Given the description of an element on the screen output the (x, y) to click on. 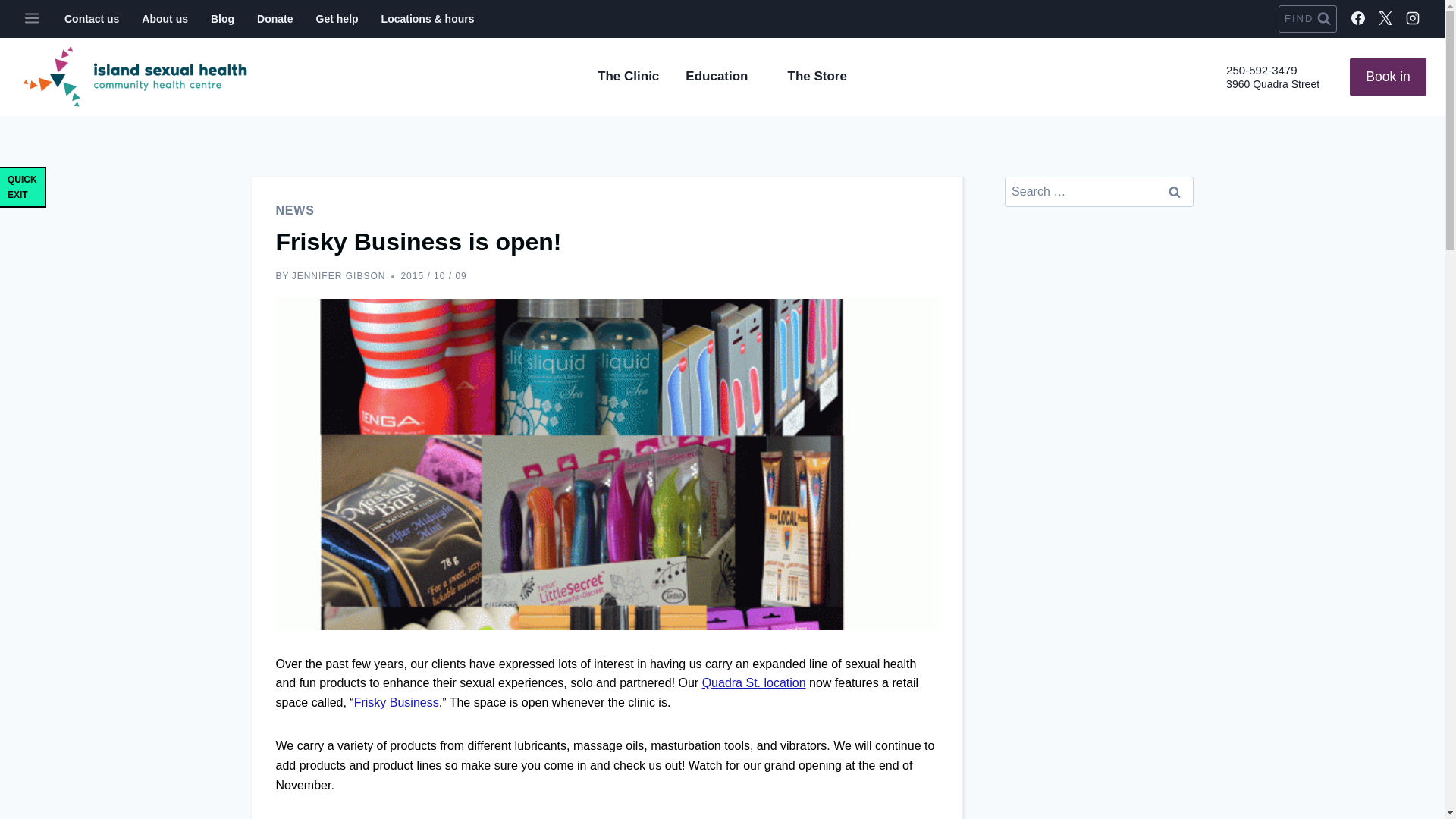
NEWS (295, 210)
250-592-3479 (1261, 69)
Get help (336, 18)
Donate (275, 18)
The Store (817, 76)
Book in (1387, 76)
FIND (1307, 18)
About us (165, 18)
Quadra St. location (753, 682)
Search (1174, 191)
Contact us (91, 18)
JENNIFER GIBSON (338, 276)
3960 Quadra Street (1272, 82)
Search (1174, 191)
Blog (222, 18)
